Given the description of an element on the screen output the (x, y) to click on. 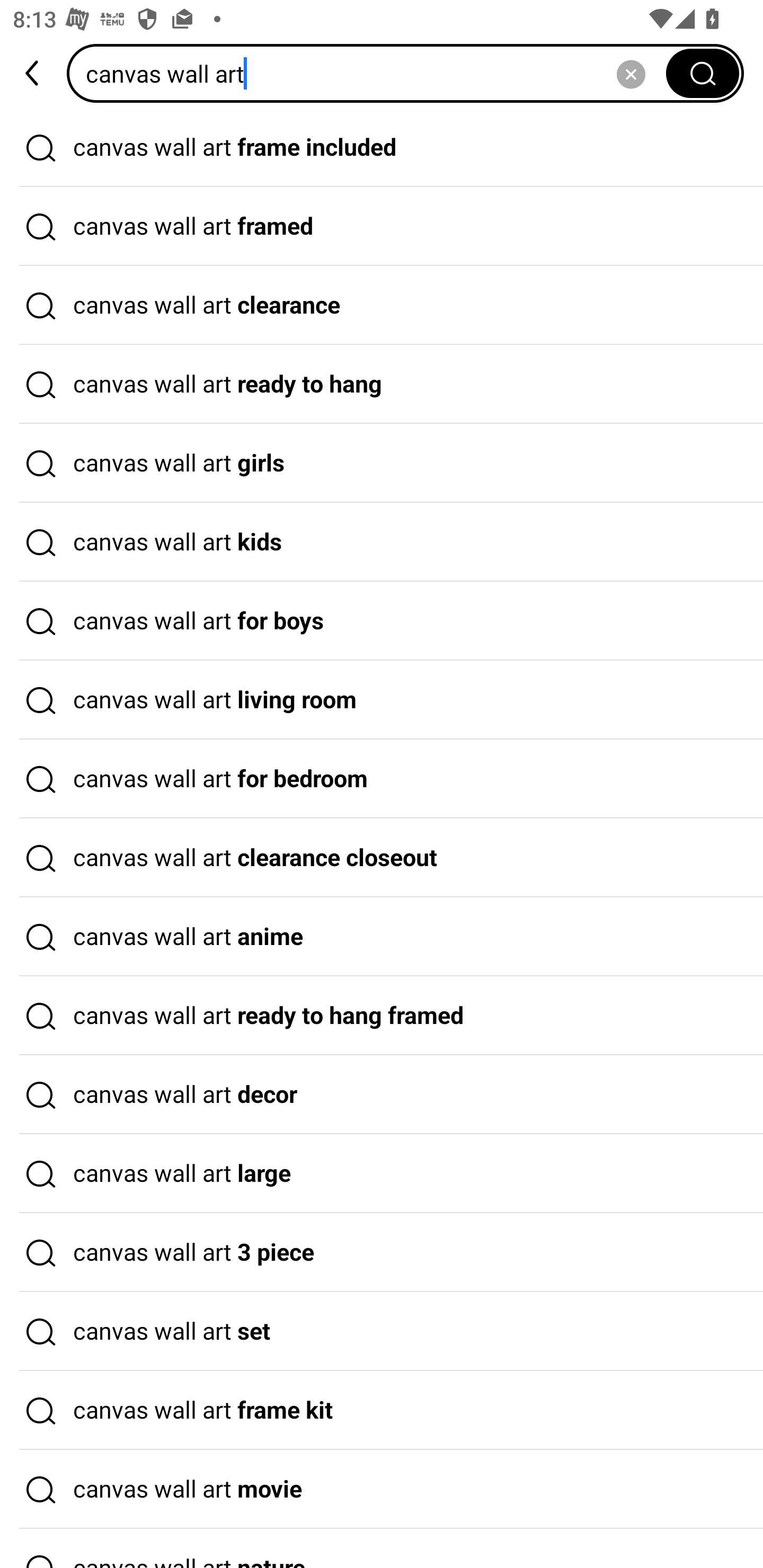
back (33, 72)
canvas wall art (372, 73)
Delete search history (630, 73)
canvas wall art frame included (381, 147)
canvas wall art framed (381, 226)
canvas wall art clearance (381, 305)
canvas wall art ready to hang (381, 383)
canvas wall art girls (381, 463)
canvas wall art kids (381, 542)
canvas wall art for boys (381, 620)
canvas wall art living room (381, 700)
canvas wall art for bedroom (381, 779)
canvas wall art clearance closeout (381, 857)
canvas wall art anime (381, 936)
canvas wall art ready to hang framed (381, 1015)
canvas wall art decor (381, 1094)
canvas wall art large (381, 1173)
canvas wall art 3 piece (381, 1252)
canvas wall art set (381, 1331)
canvas wall art frame kit (381, 1410)
canvas wall art movie (381, 1489)
